Given the description of an element on the screen output the (x, y) to click on. 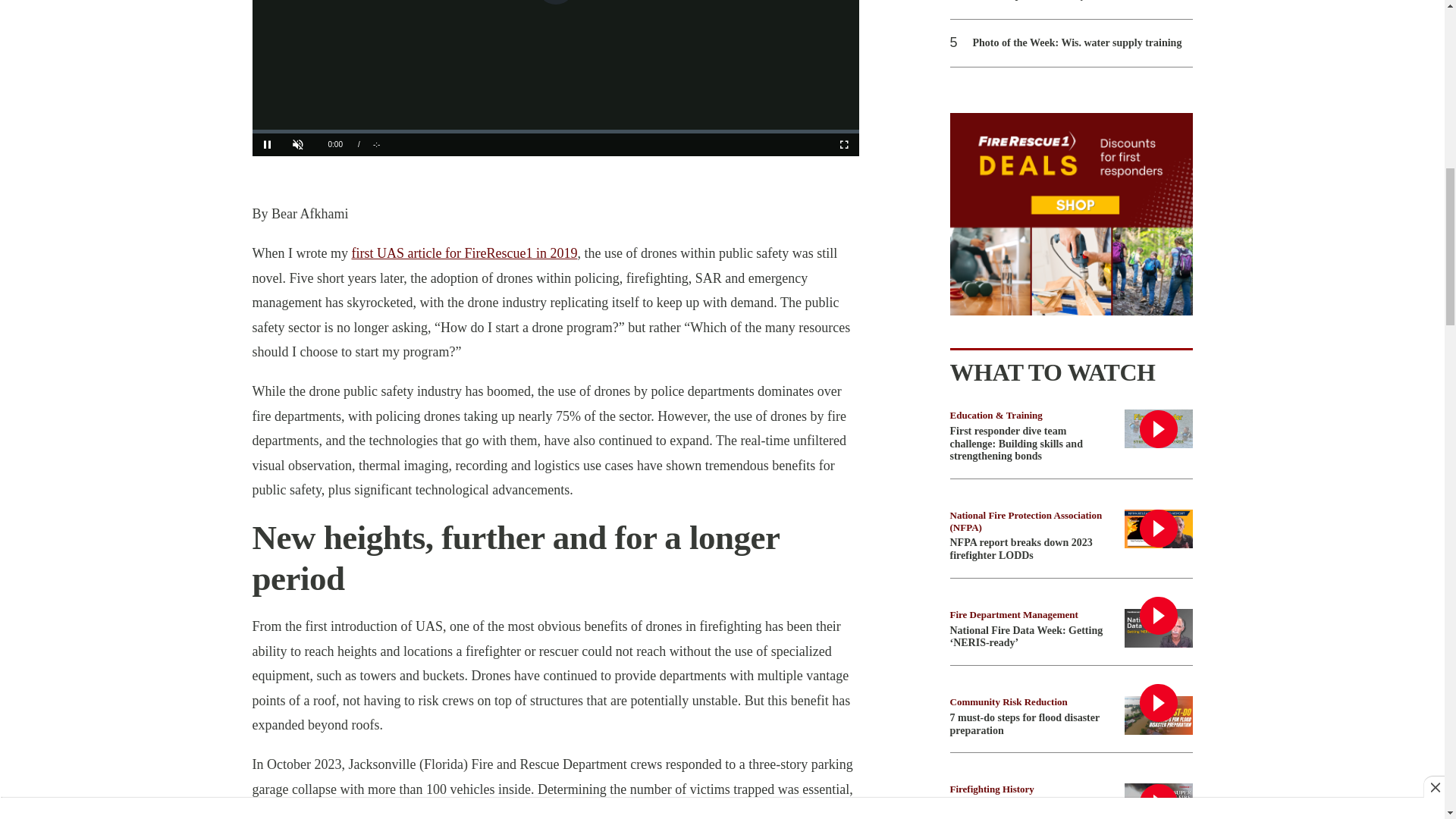
Pause (266, 144)
Unmute (297, 144)
Fullscreen (843, 144)
